Given the description of an element on the screen output the (x, y) to click on. 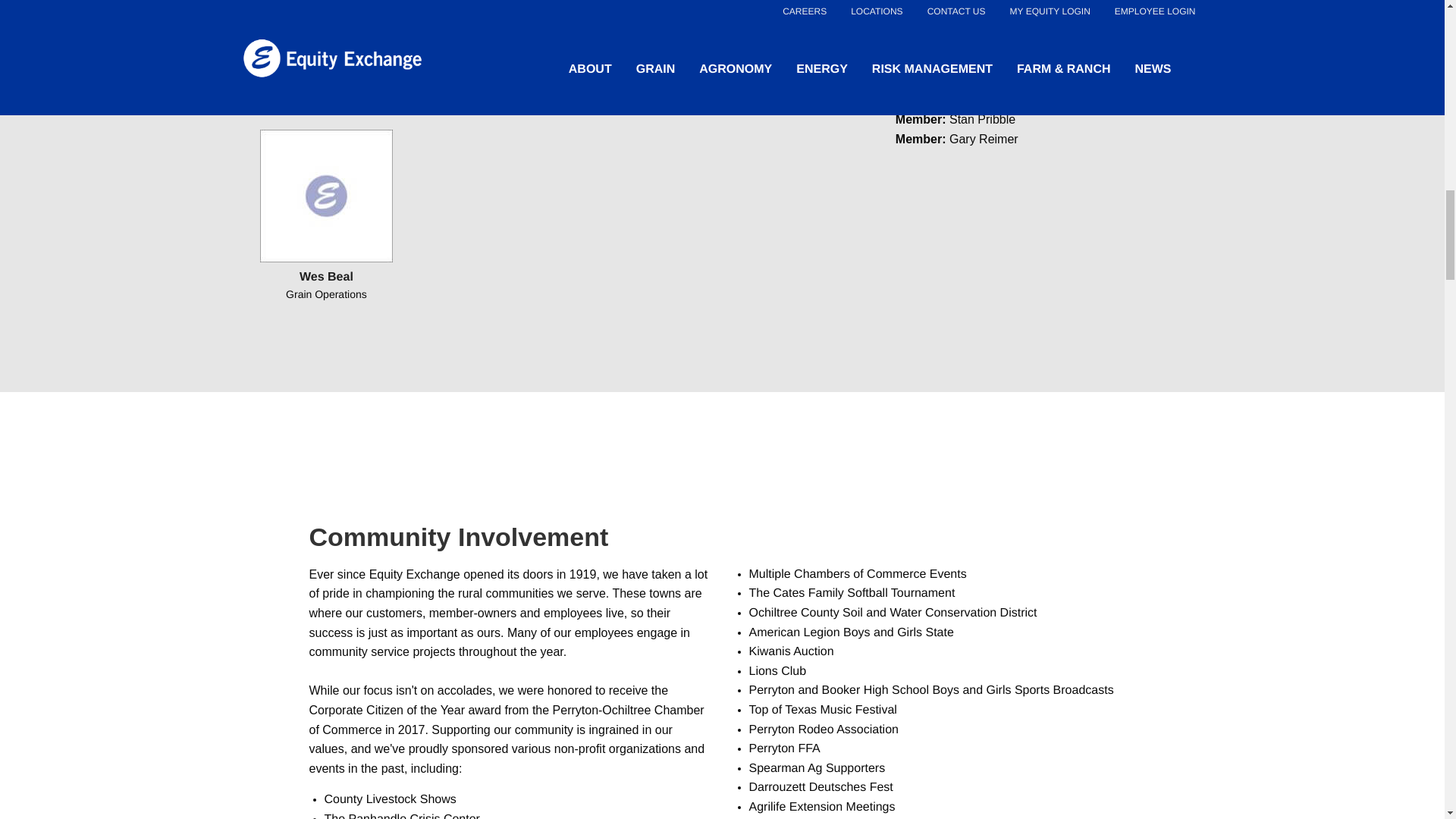
Shawn Hughes (326, 30)
Wes Beal (326, 195)
Kelly Seemann (482, 30)
Phil Symons (794, 30)
James Culp (638, 30)
